Given the description of an element on the screen output the (x, y) to click on. 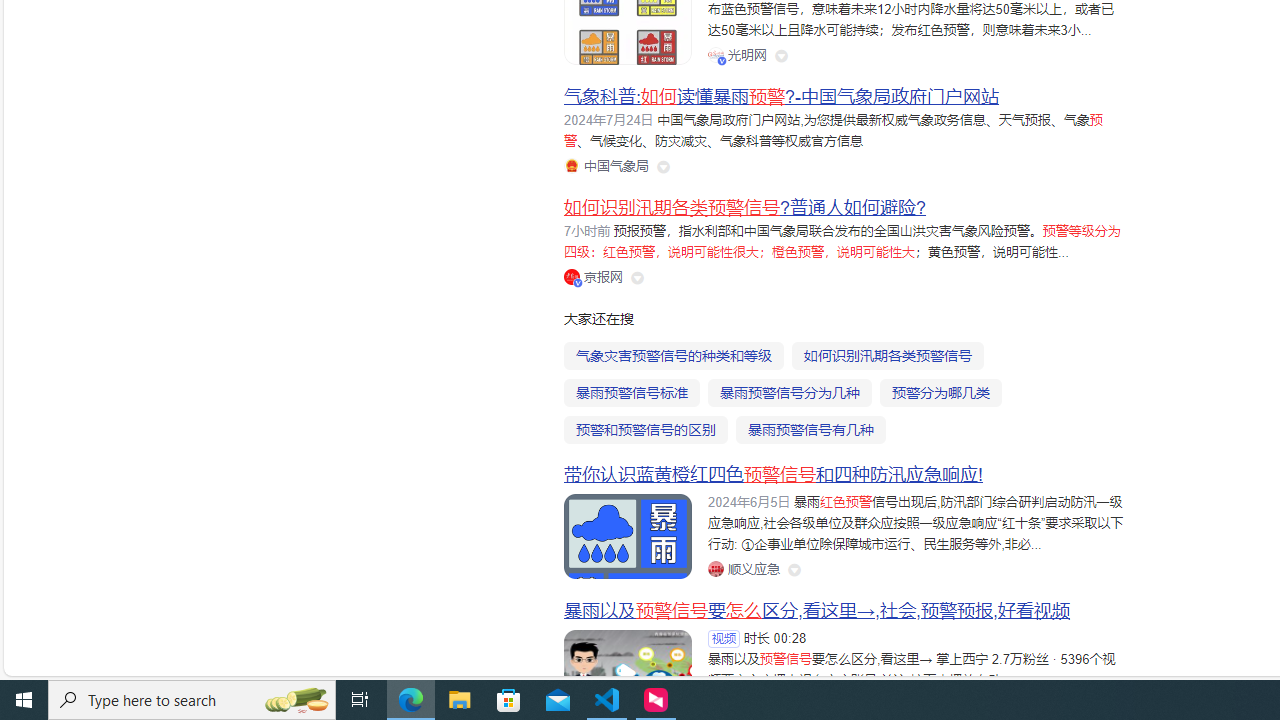
Class: siteLink_9TPP3 (743, 568)
Class: vip-icon_kNmNt (577, 282)
